Given the description of an element on the screen output the (x, y) to click on. 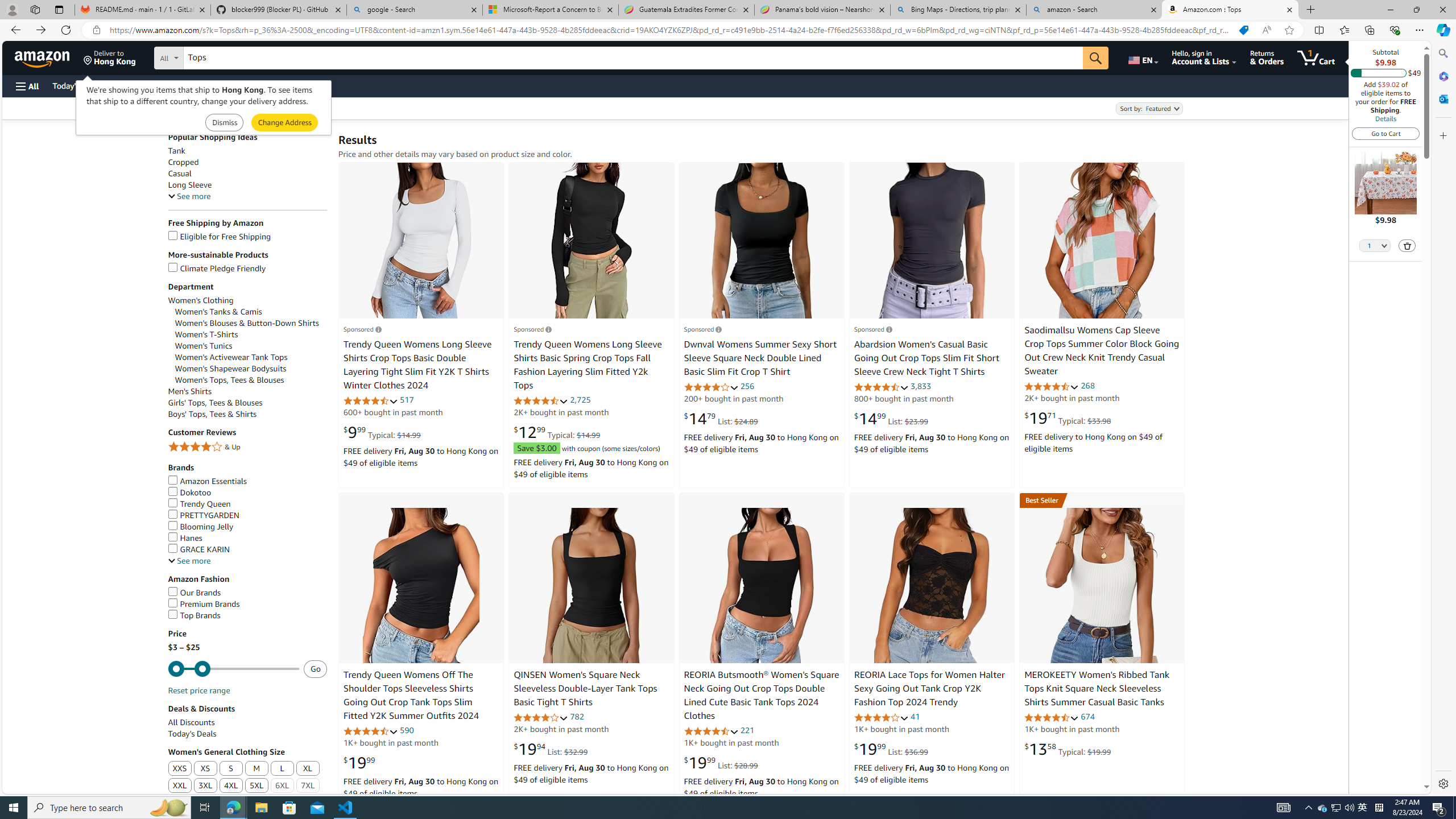
XS (204, 768)
Women's Clothing (200, 300)
Premium Brands (203, 603)
4.6 out of 5 stars (711, 730)
Girls' Tops, Tees & Blouses (214, 402)
Reset price range (198, 690)
$19.99 List: $28.99 (721, 762)
6XL (282, 786)
$19.71 Typical: $33.98 (1067, 417)
Blooming Jelly (247, 526)
Go to Cart (1385, 133)
XL (307, 769)
